Given the description of an element on the screen output the (x, y) to click on. 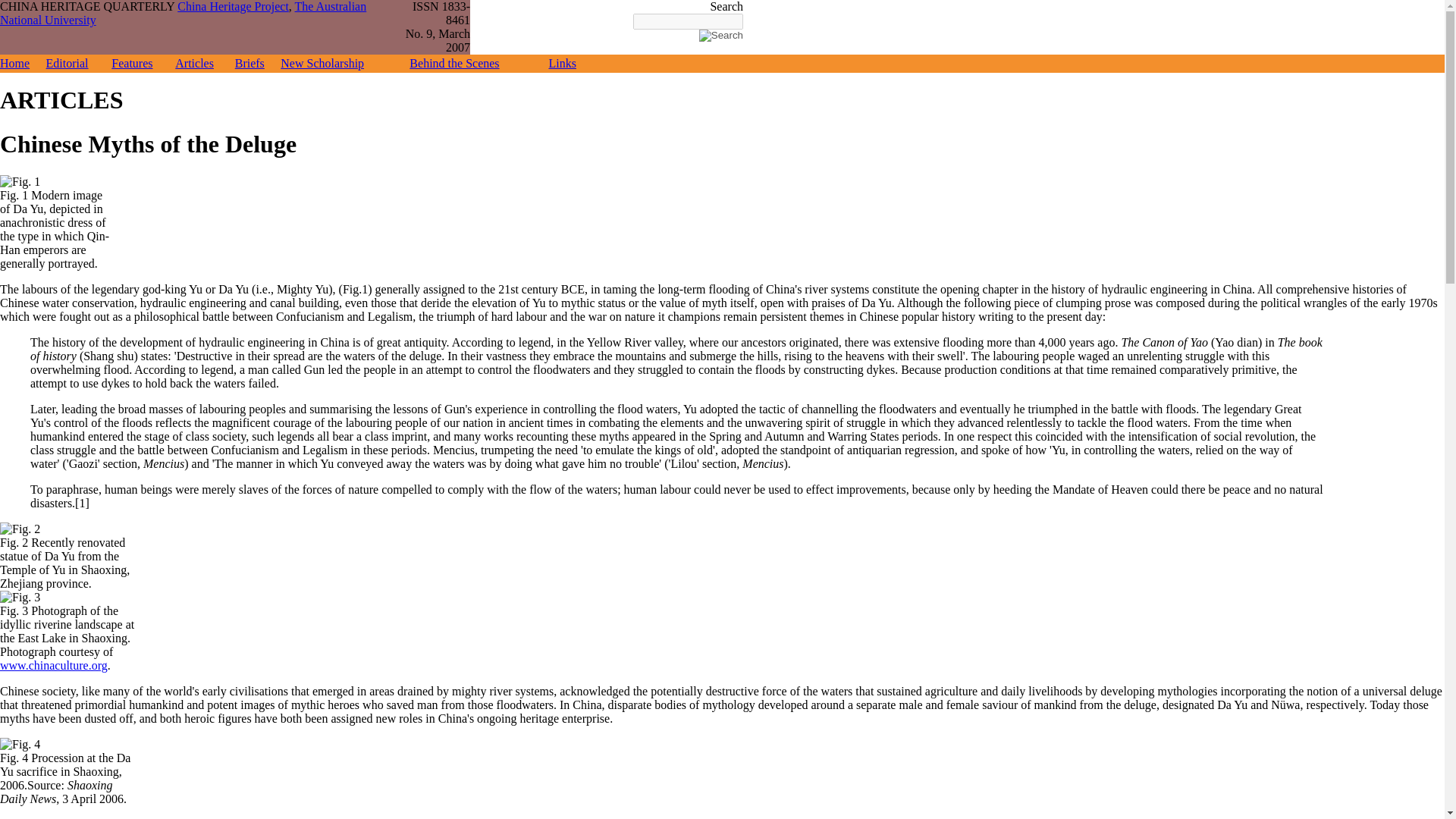
www.chinaculture.org (53, 665)
Editorial (67, 62)
Features (132, 62)
Behind the Scenes (454, 62)
The Australian National University (183, 13)
Home (14, 62)
New Scholarship (322, 62)
China Heritage Project (232, 6)
Articles (194, 62)
Links (561, 62)
Search (720, 35)
Briefs (249, 62)
Search (720, 35)
